Given the description of an element on the screen output the (x, y) to click on. 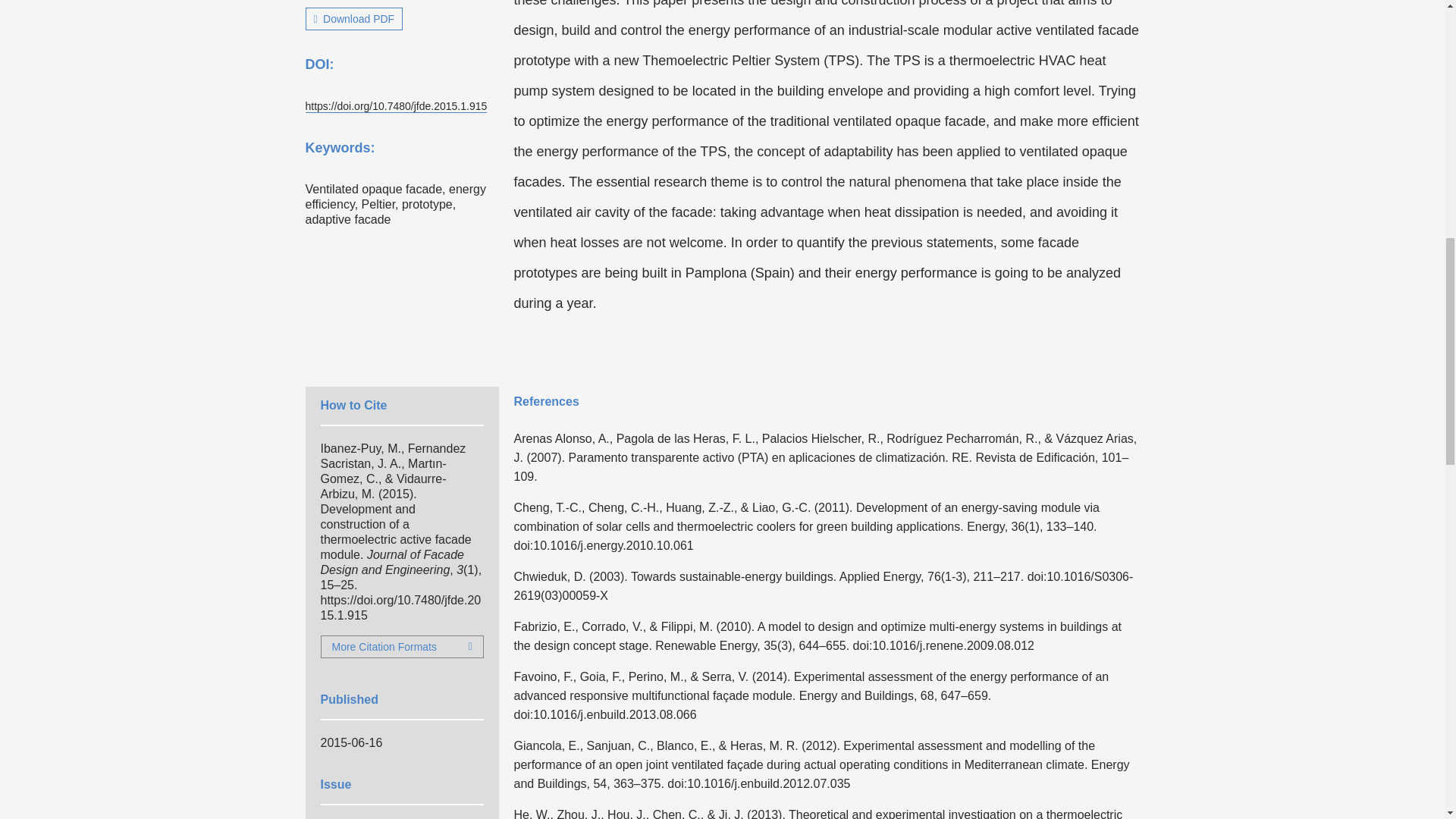
More Citation Formats (402, 646)
Download PDF (353, 18)
